Given the description of an element on the screen output the (x, y) to click on. 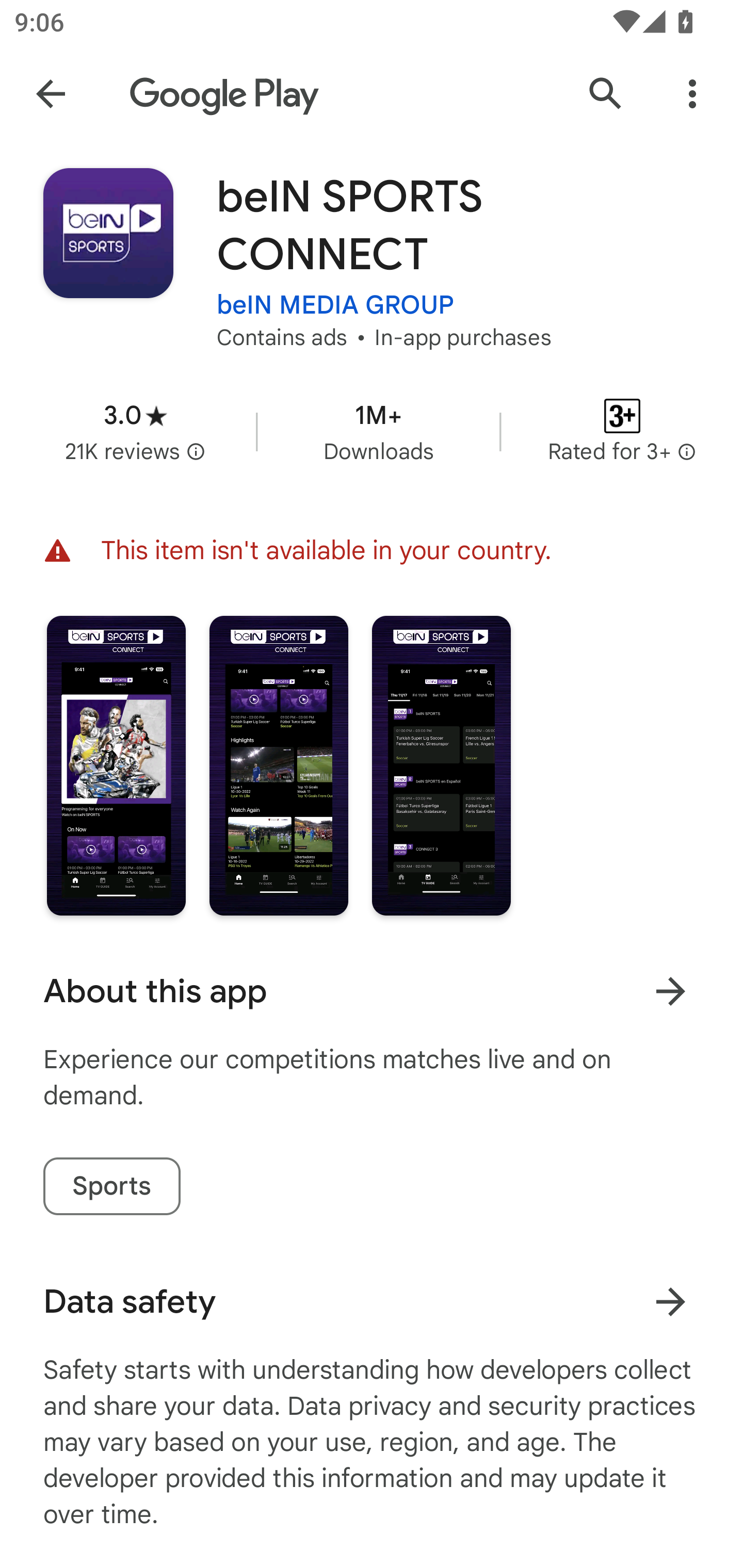
Navigate up (50, 93)
Search Google Play (605, 93)
More Options (692, 93)
beIN MEDIA GROUP (334, 304)
Average rating 3.0 stars in 21 thousand reviews (135, 431)
Content rating Rated for 3+ (622, 431)
Screenshot "1" of "3" (115, 765)
Screenshot "2" of "3" (278, 765)
Screenshot "3" of "3" (441, 765)
About this app Learn more About this app (371, 990)
Learn more About this app (670, 991)
Sports tag (111, 1186)
Data safety Learn more about data safety (371, 1301)
Learn more about data safety (670, 1302)
